Given the description of an element on the screen output the (x, y) to click on. 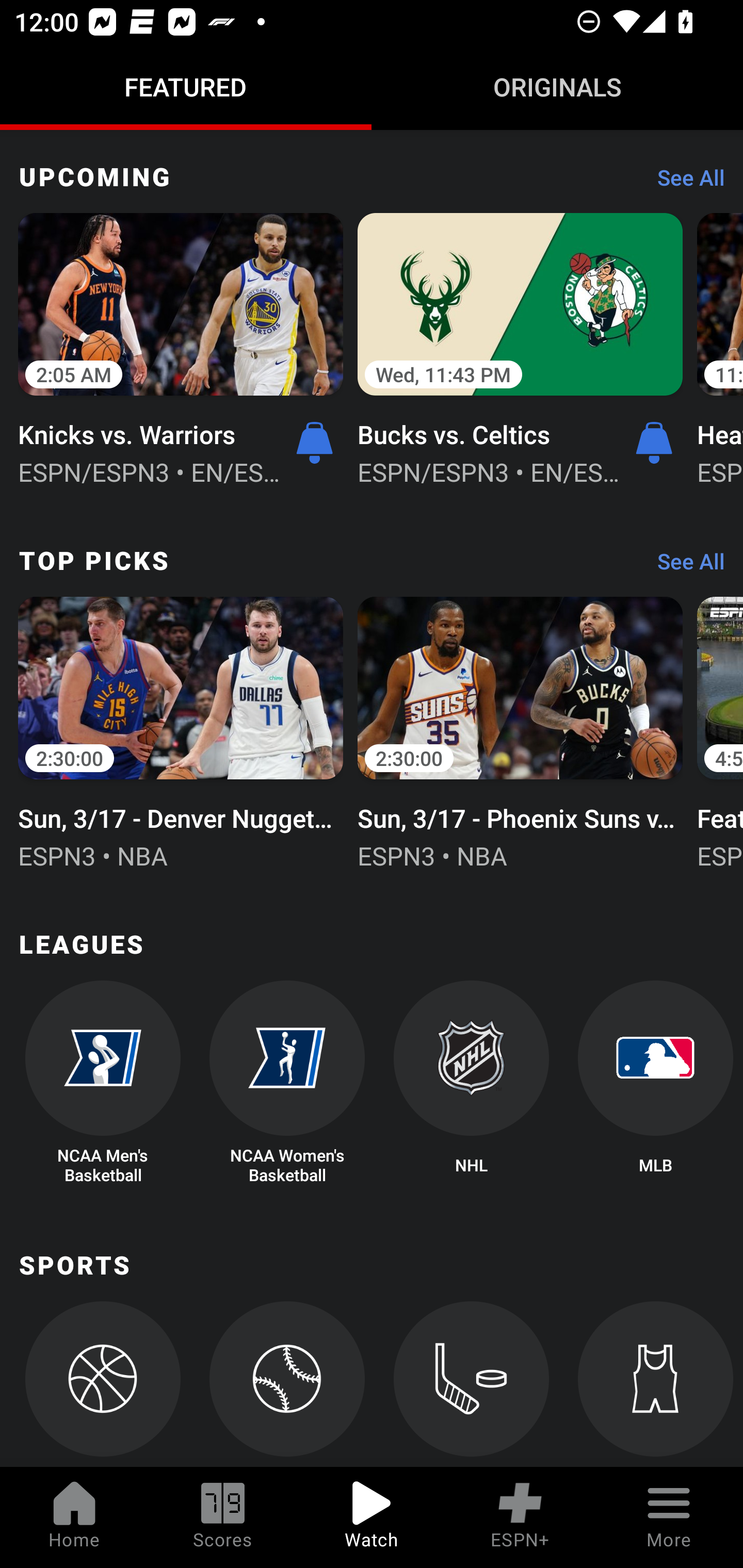
Originals ORIGINALS (557, 86)
See All (683, 182)
See All (683, 565)
NCAA Men's Basketball (102, 1083)
NCAA Women's Basketball (286, 1083)
NHL (471, 1083)
MLB (655, 1083)
Home (74, 1517)
Scores (222, 1517)
ESPN+ (519, 1517)
More (668, 1517)
